Given the description of an element on the screen output the (x, y) to click on. 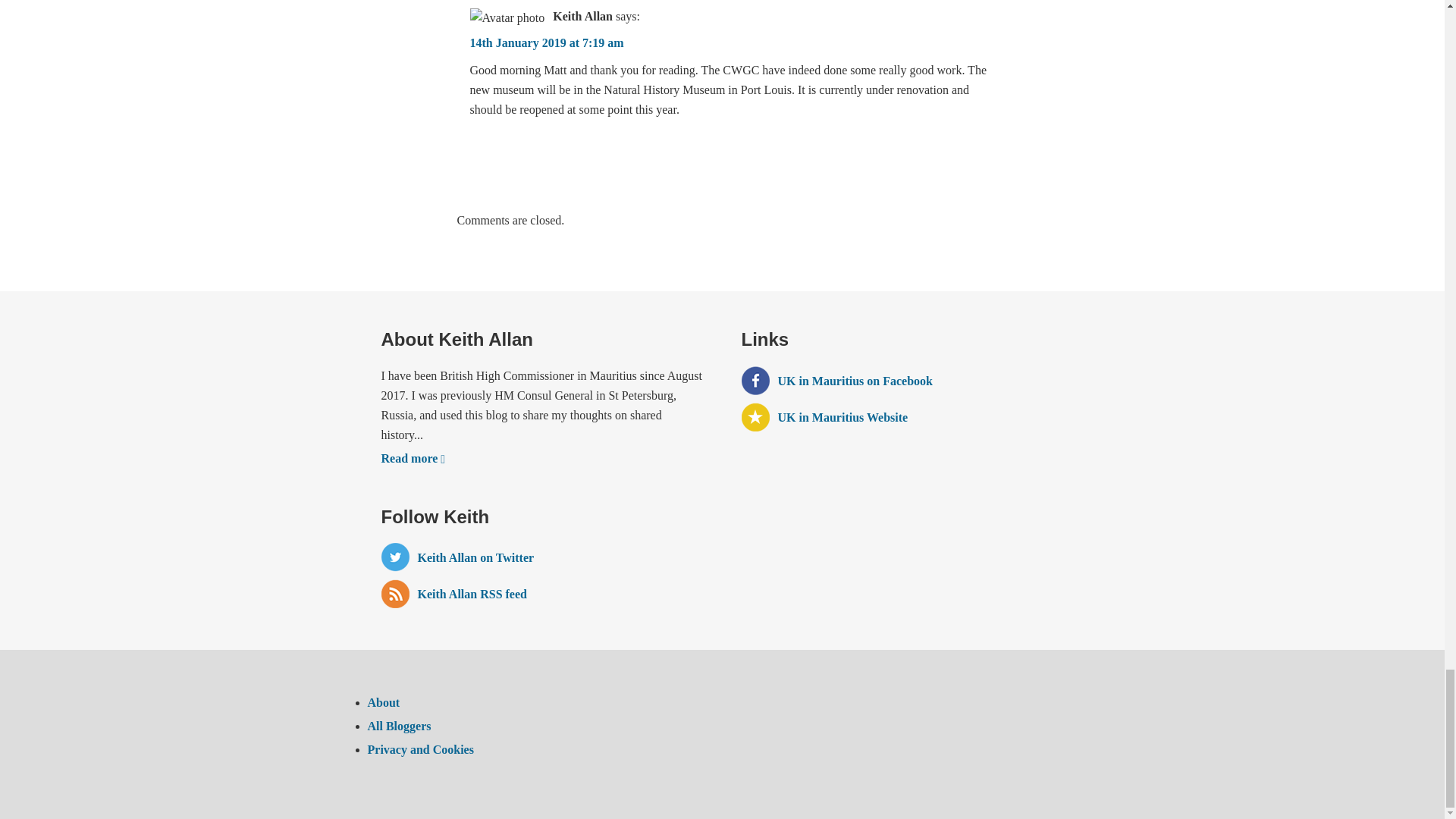
Keith Allan RSS feed (541, 593)
Keith Allan on Twitter (541, 556)
Privacy and Cookies (419, 748)
UK in Mauritius Website (902, 416)
About (382, 702)
14th January 2019 at 7:19 am (547, 42)
Read more (412, 458)
All Bloggers (398, 725)
UK in Mauritius on Facebook (902, 380)
